Given the description of an element on the screen output the (x, y) to click on. 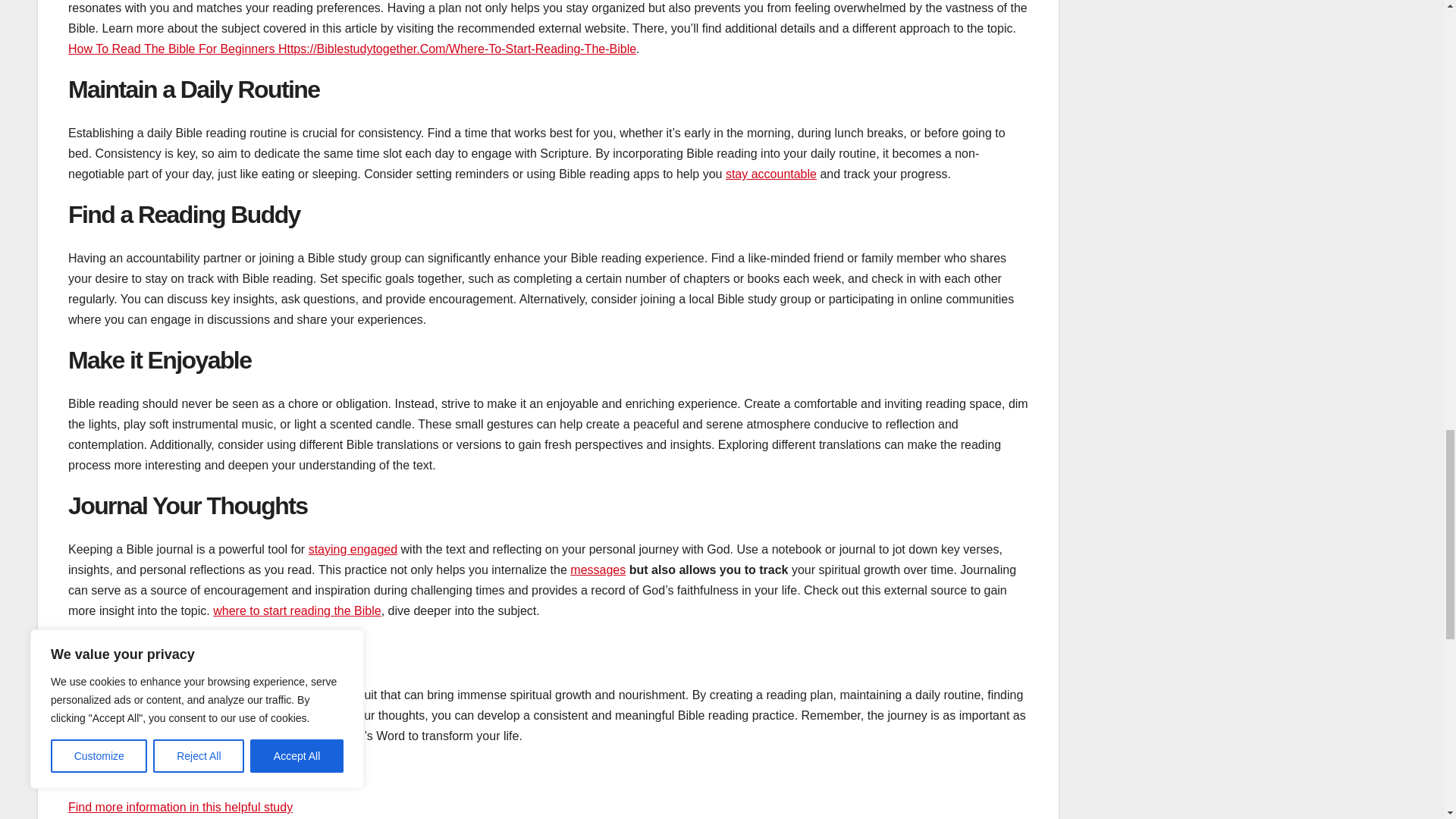
messages (598, 569)
stay accountable (770, 173)
staying engaged (352, 549)
where to start reading the Bible (296, 610)
Find more information in this helpful study (180, 807)
